Given the description of an element on the screen output the (x, y) to click on. 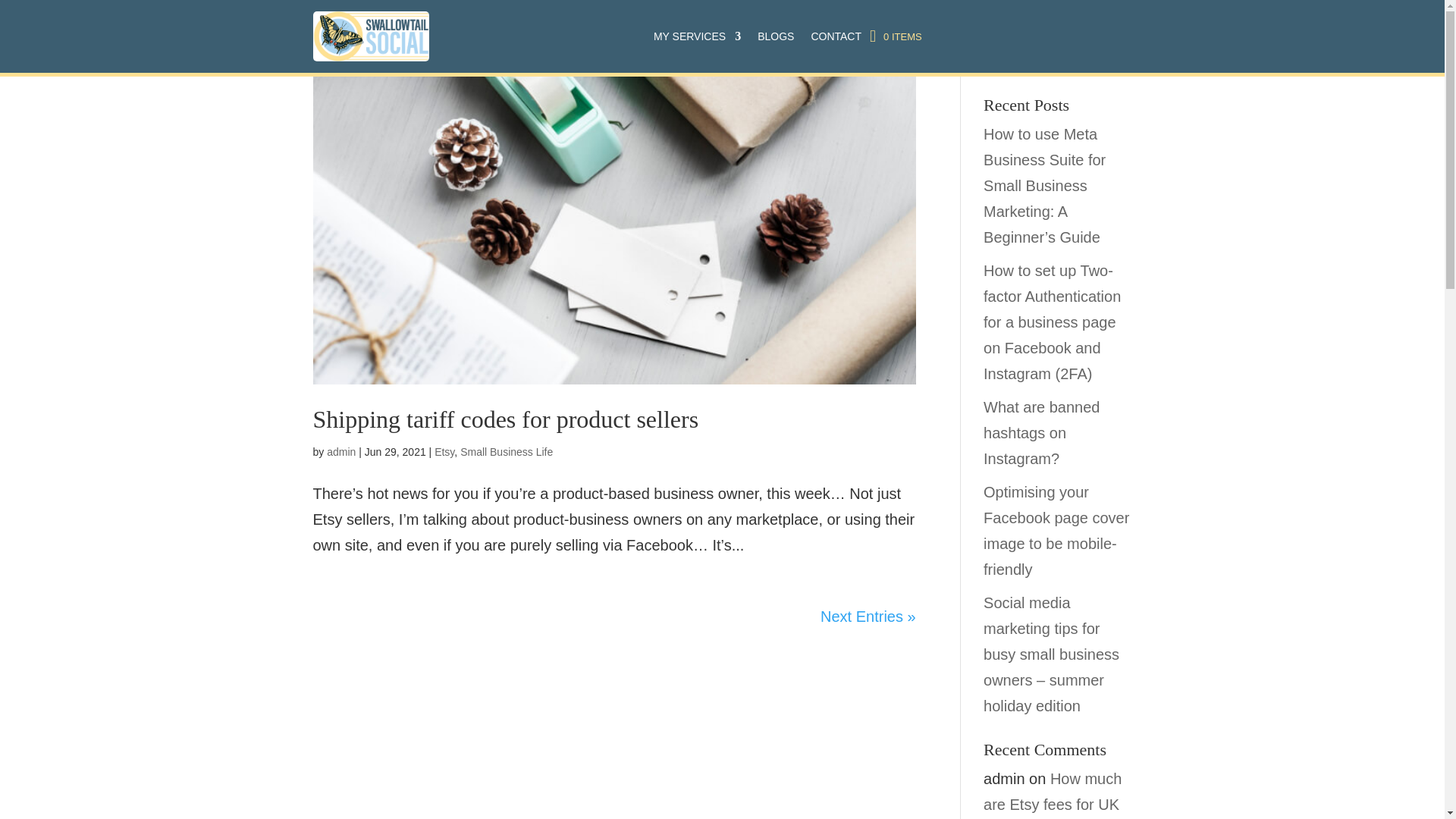
MY SERVICES (697, 36)
Posts by admin (340, 451)
0 ITEMS (895, 36)
admin (340, 451)
Search (1106, 59)
Shipping tariff codes for product sellers (505, 419)
Search (1106, 59)
How much are Etsy fees for UK sellers? Updated for 2024 (1052, 794)
Etsy (443, 451)
